Given the description of an element on the screen output the (x, y) to click on. 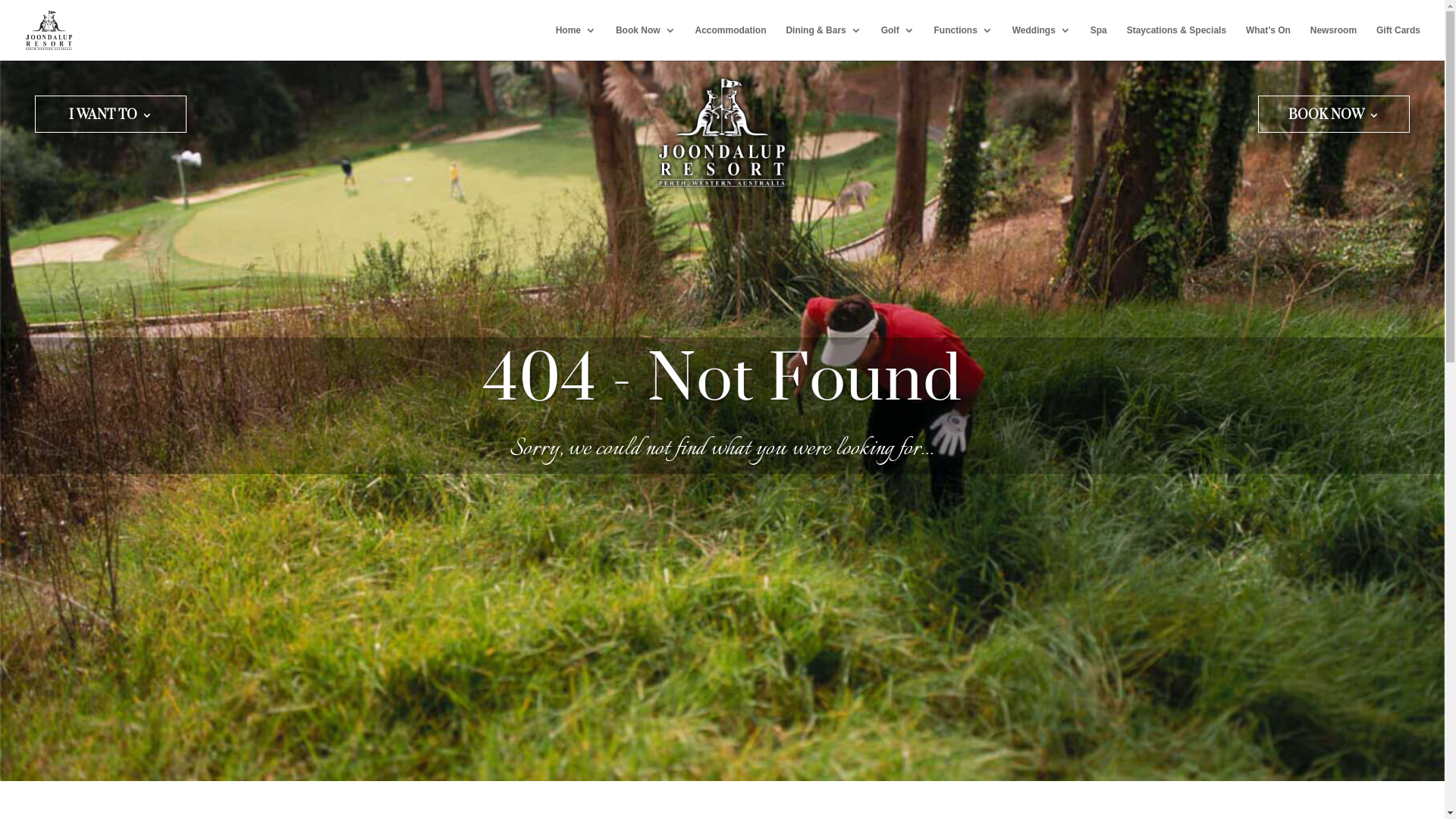
Staycations & Specials Element type: text (1176, 42)
Home Element type: text (575, 42)
Skip to content Element type: text (0, 0)
Weddings Element type: text (1041, 42)
Functions Element type: text (963, 42)
Newsroom Element type: text (1333, 42)
Spa Element type: text (1098, 42)
I WANT TO Element type: text (110, 117)
Book Now Element type: text (645, 42)
Gift Cards Element type: text (1398, 42)
BOOK NOW Element type: text (1333, 117)
Joondalup Resort - Logo - Primary Element type: hover (721, 132)
Golf Element type: text (897, 42)
Dining & Bars Element type: text (822, 42)
Accommodation Element type: text (729, 42)
